Given the description of an element on the screen output the (x, y) to click on. 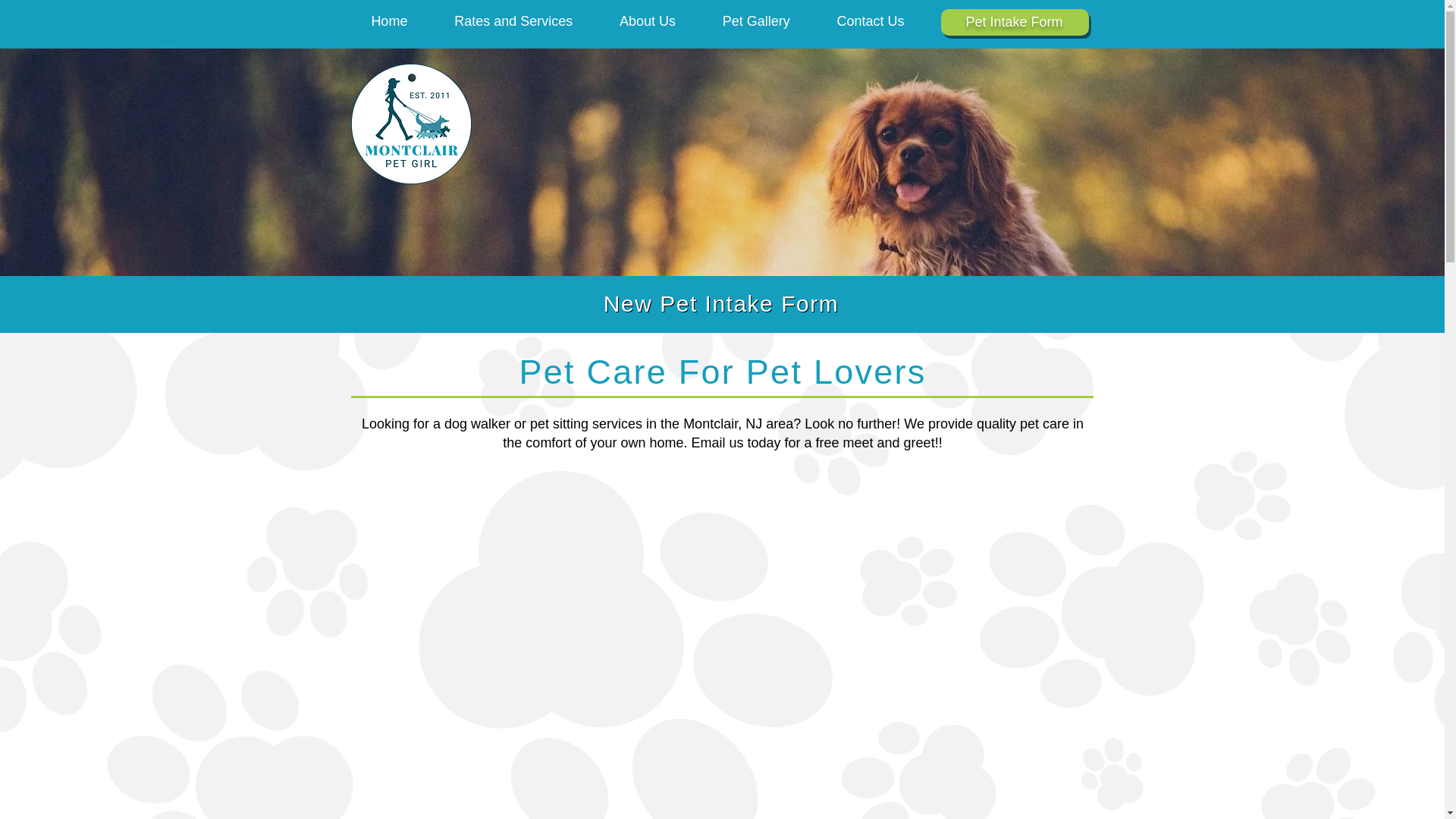
Pet Intake Form (1013, 21)
Rates and Services (512, 21)
Home (389, 21)
Contact Us (870, 21)
About Us (646, 21)
Pet Gallery (755, 21)
